Given the description of an element on the screen output the (x, y) to click on. 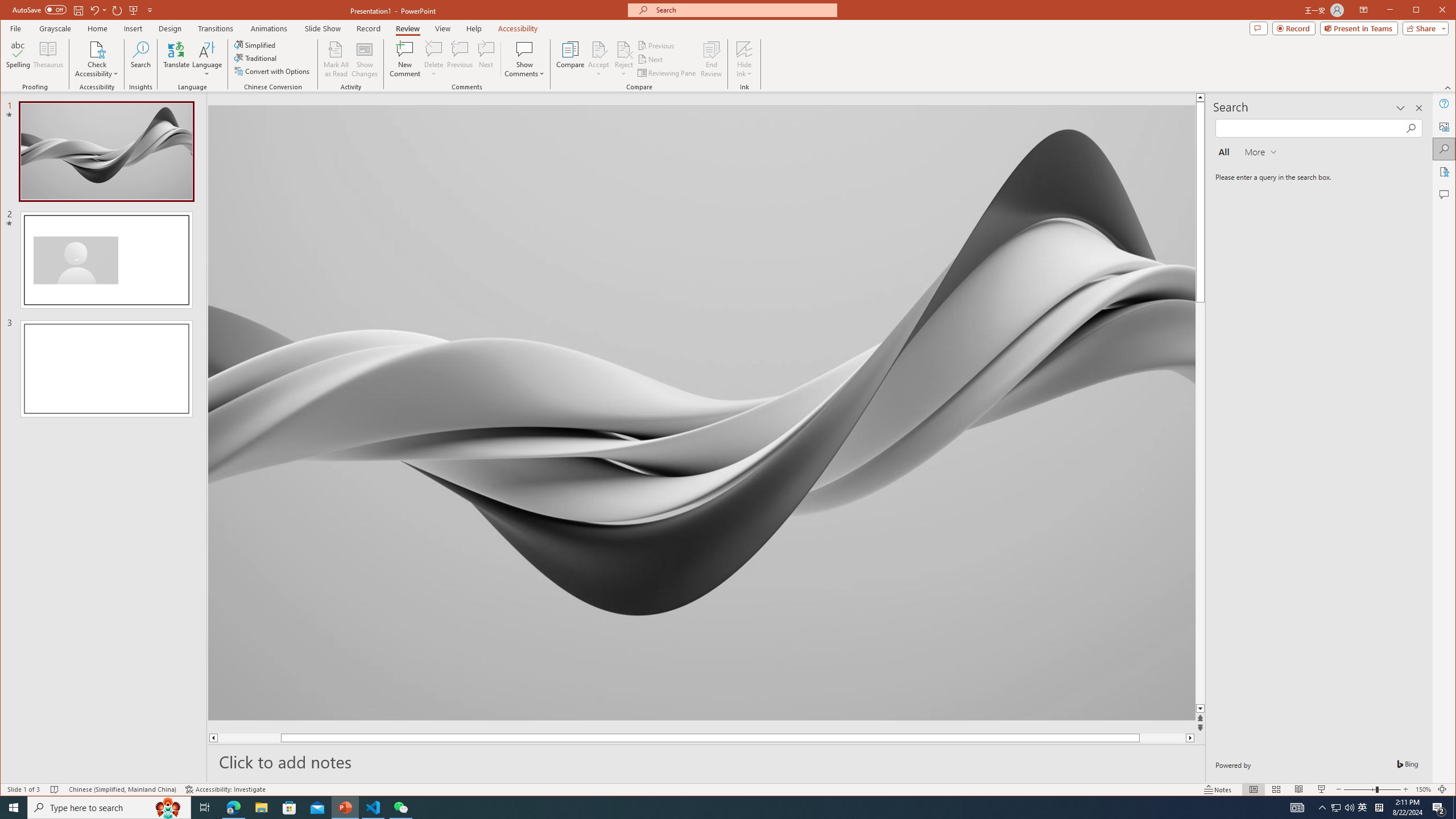
Accept Change (598, 48)
Wavy 3D art (701, 412)
Zoom 150% (1422, 789)
